Given the description of an element on the screen output the (x, y) to click on. 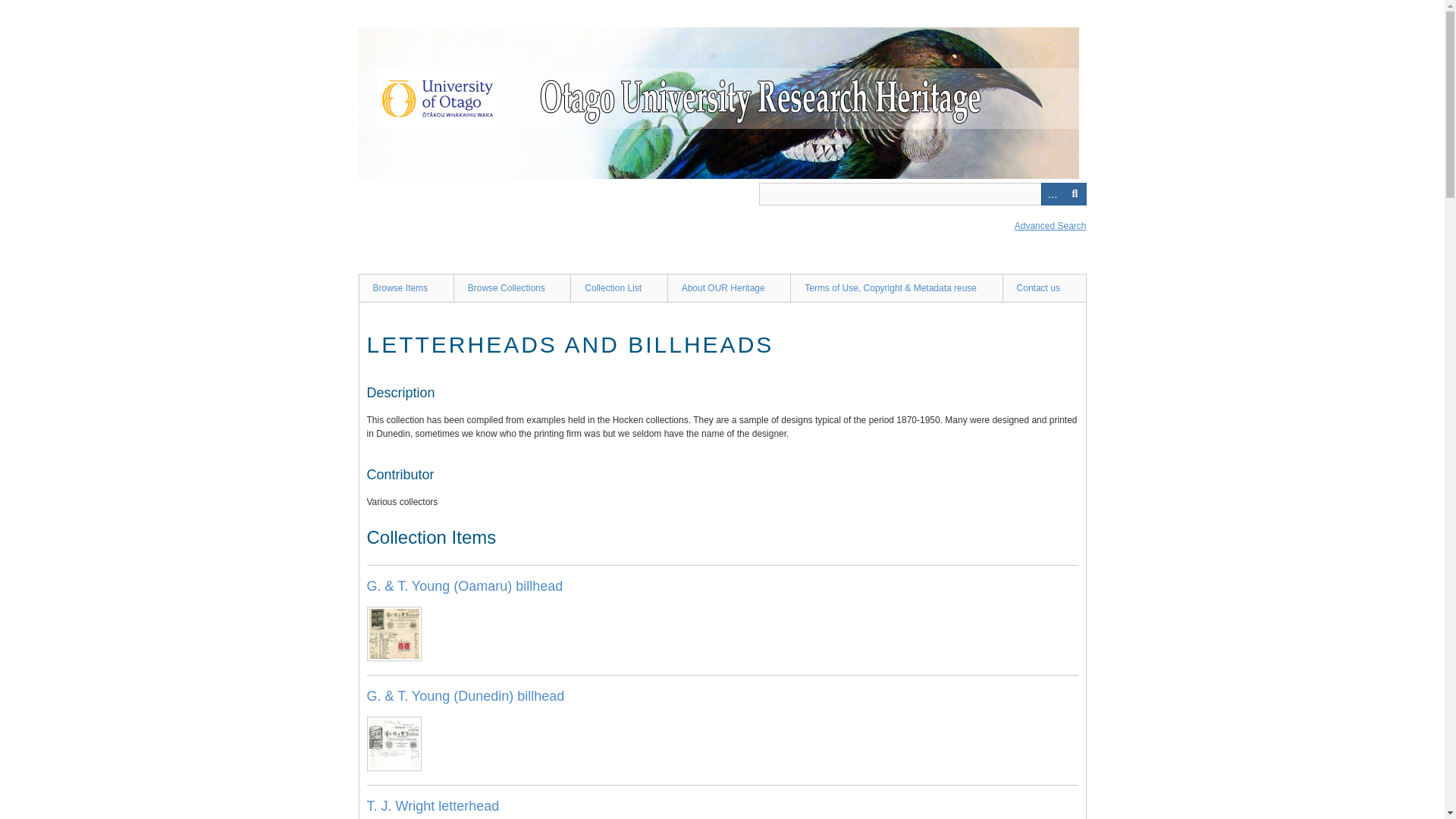
Collection List (618, 287)
Advanced Search (1051, 193)
Search (922, 193)
Browse Collections (511, 287)
Browse Items (405, 287)
T. J. Wright letterhead (432, 806)
About OUR Heritage (728, 287)
Search (1074, 193)
Advanced Search (1050, 225)
Contact us (1044, 287)
